Given the description of an element on the screen output the (x, y) to click on. 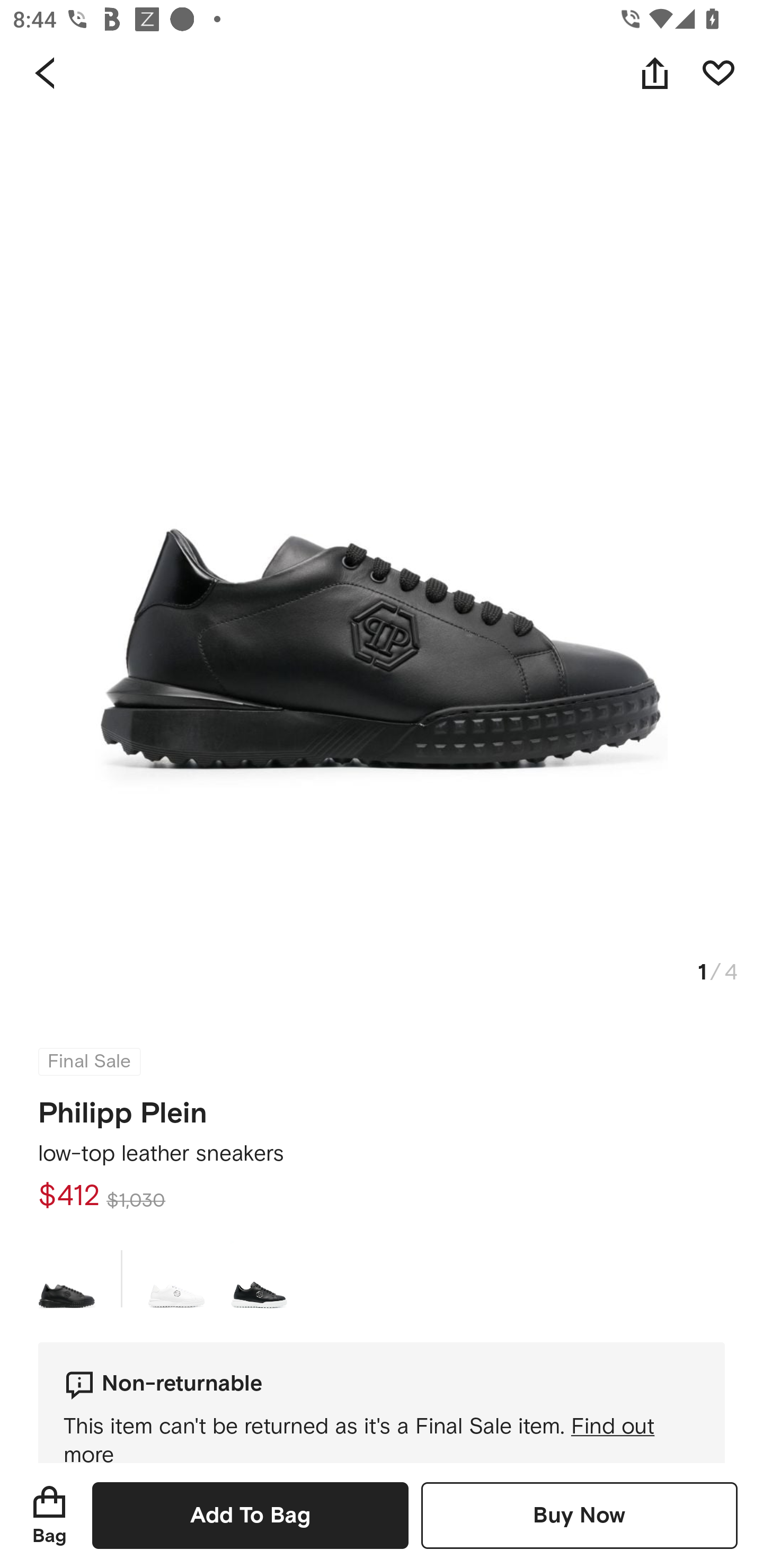
Philipp Plein (122, 1107)
Bag (49, 1515)
Add To Bag (250, 1515)
Buy Now (579, 1515)
